Given the description of an element on the screen output the (x, y) to click on. 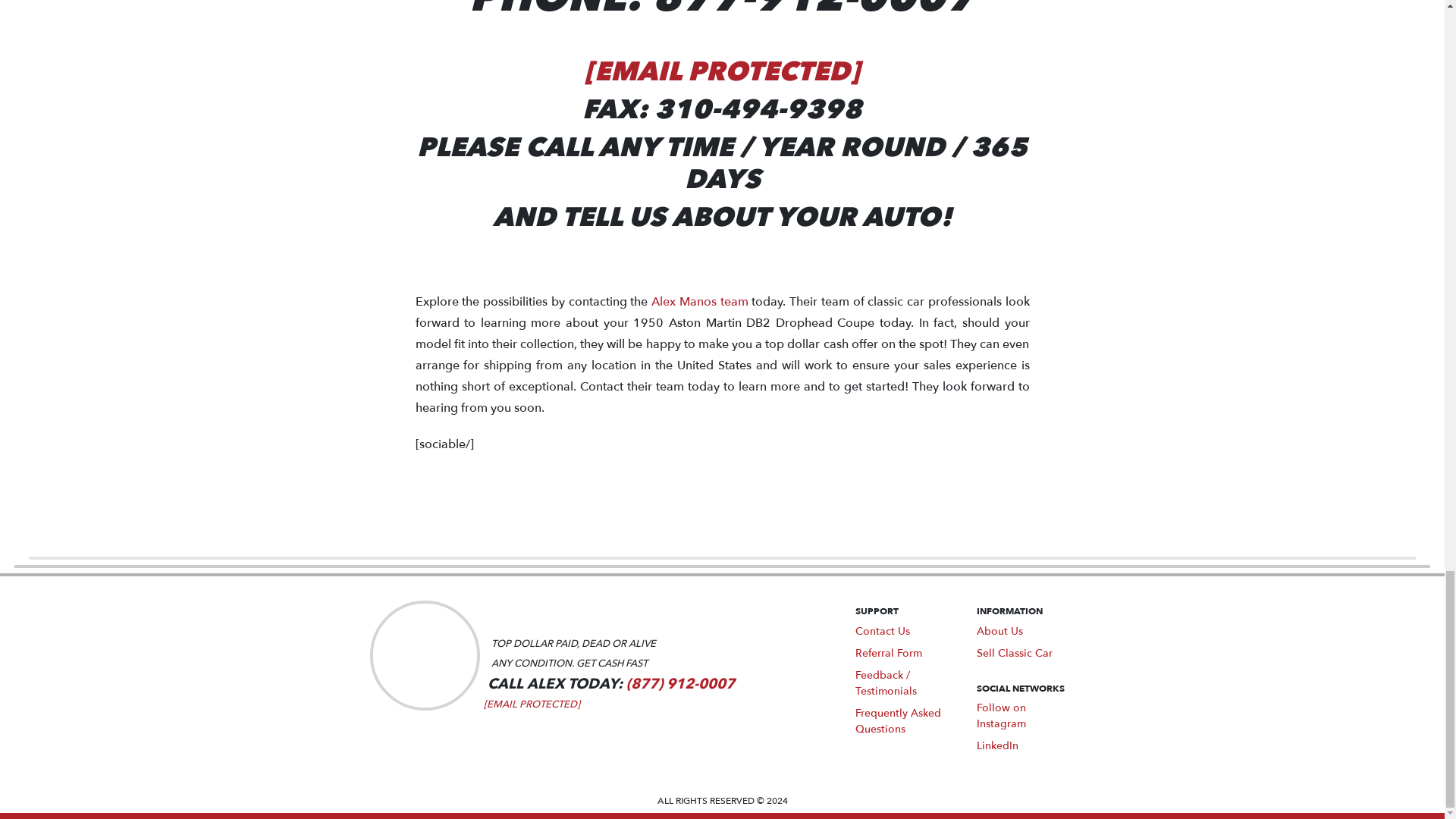
Contact Us (883, 631)
Sell Classic Car (1014, 653)
About Us (999, 631)
Frequently Asked Questions (898, 720)
Follow on Instagram (1001, 716)
Alex Manos team (699, 301)
Referral Form (888, 653)
LinkedIn (996, 745)
